Given the description of an element on the screen output the (x, y) to click on. 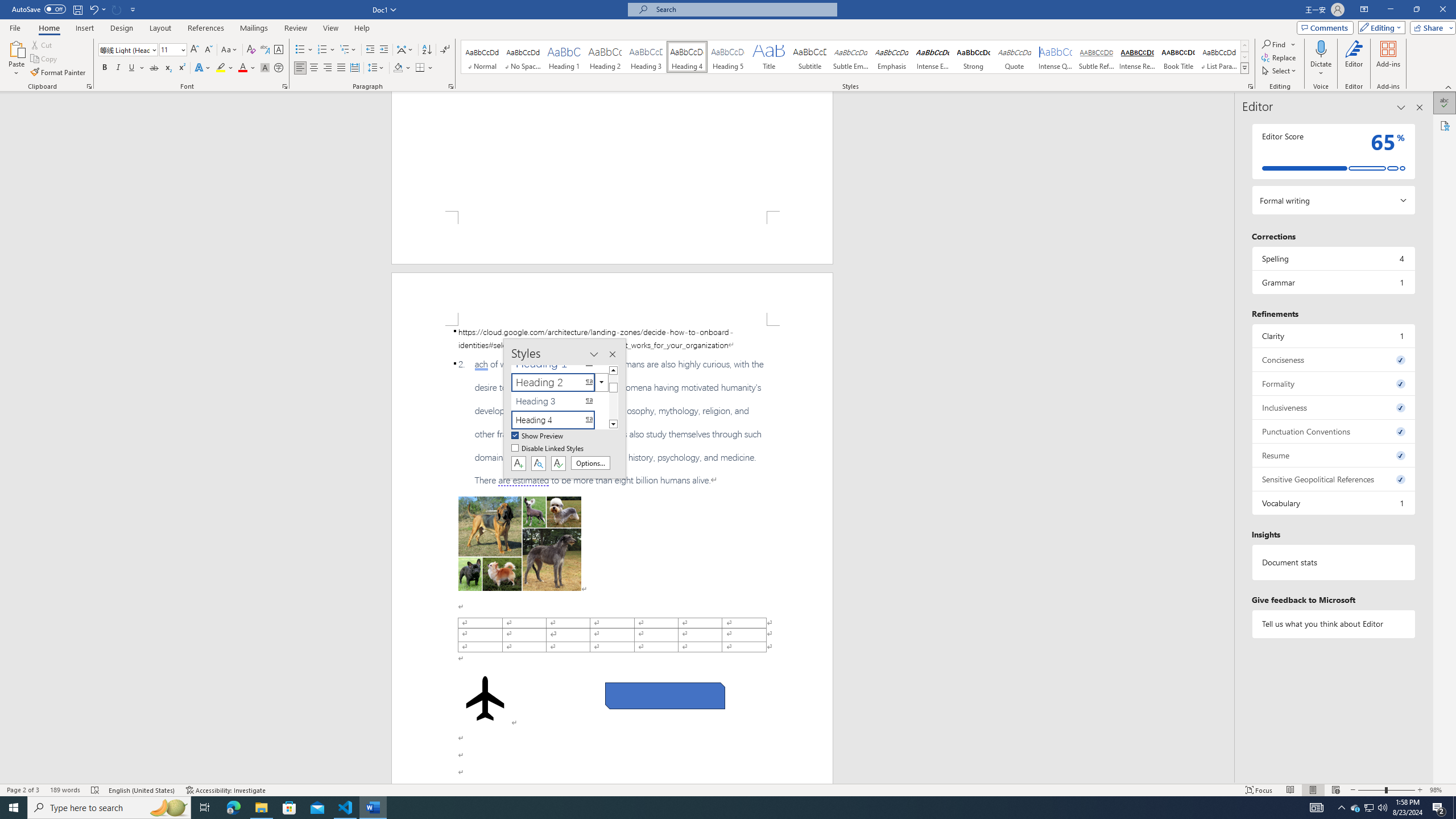
Replace... (1279, 56)
Heading 2 (605, 56)
Heading 4 (686, 56)
